Given the description of an element on the screen output the (x, y) to click on. 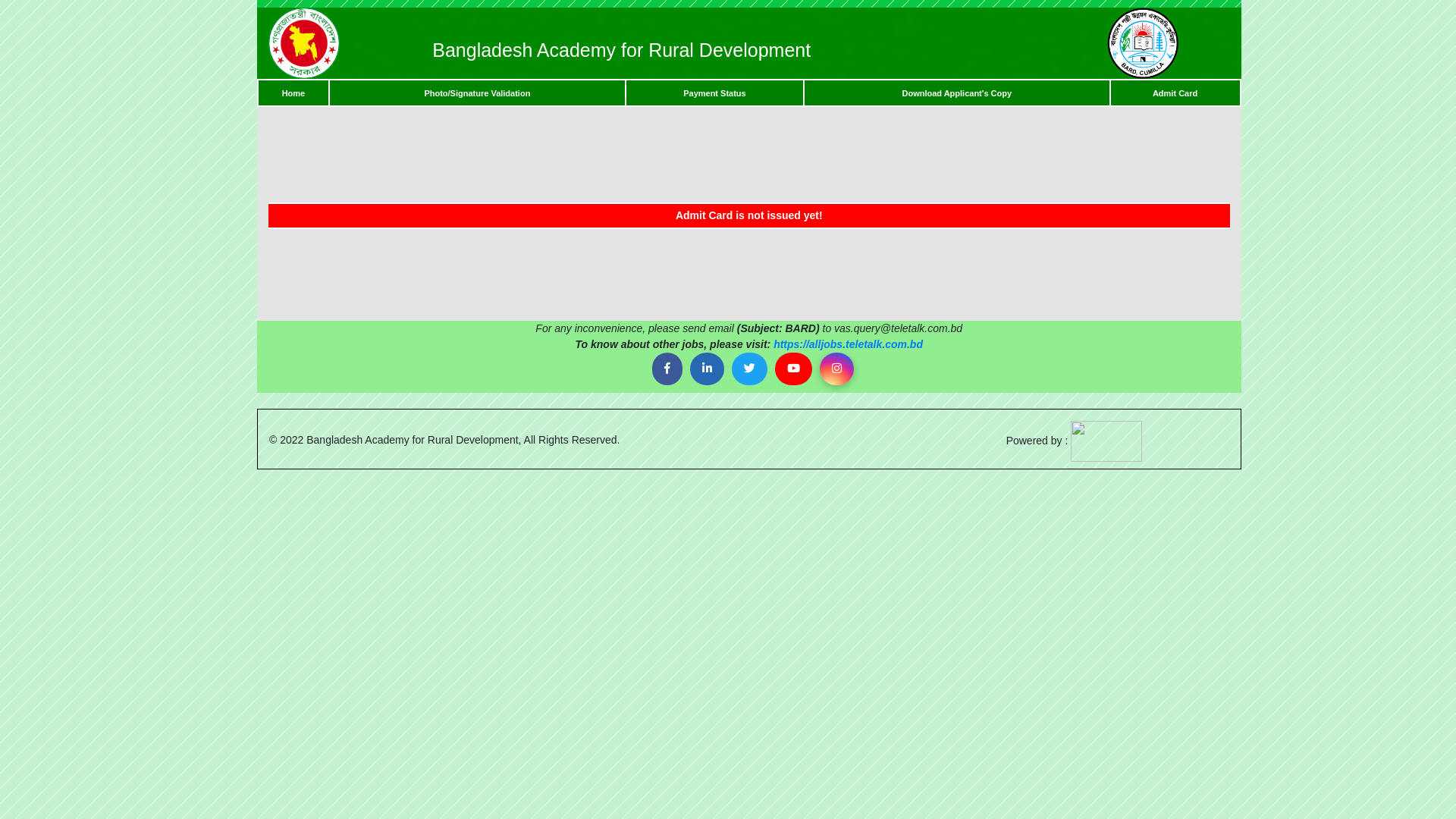
https://alljobs.teletalk.com.bd Element type: text (847, 344)
Photo/Signature Validation Element type: text (476, 92)
Instagram Element type: hover (836, 368)
Linkedin Element type: hover (707, 368)
Home Element type: text (293, 92)
Facebook Element type: hover (667, 368)
Admit Card Element type: text (1174, 92)
Payment Status Element type: text (714, 92)
Youtube Element type: hover (793, 368)
Twitter Element type: hover (749, 368)
Download Applicant's Copy Element type: text (956, 92)
